Given the description of an element on the screen output the (x, y) to click on. 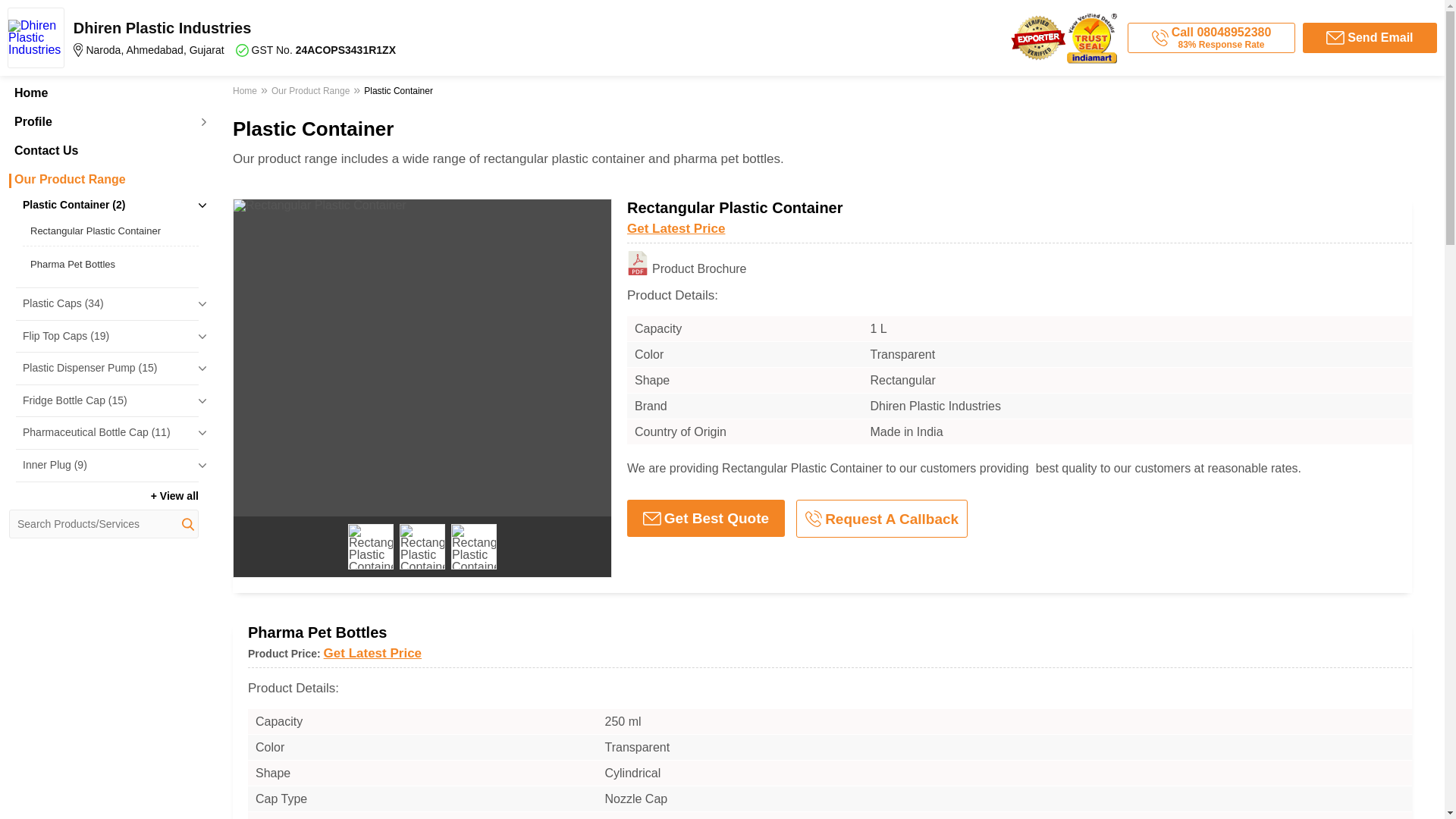
Home (103, 92)
Rectangular Plastic Container (110, 231)
Contact Us (103, 150)
Our Product Range (103, 179)
Profile (103, 121)
Pharma Pet Bottles (110, 264)
